Given the description of an element on the screen output the (x, y) to click on. 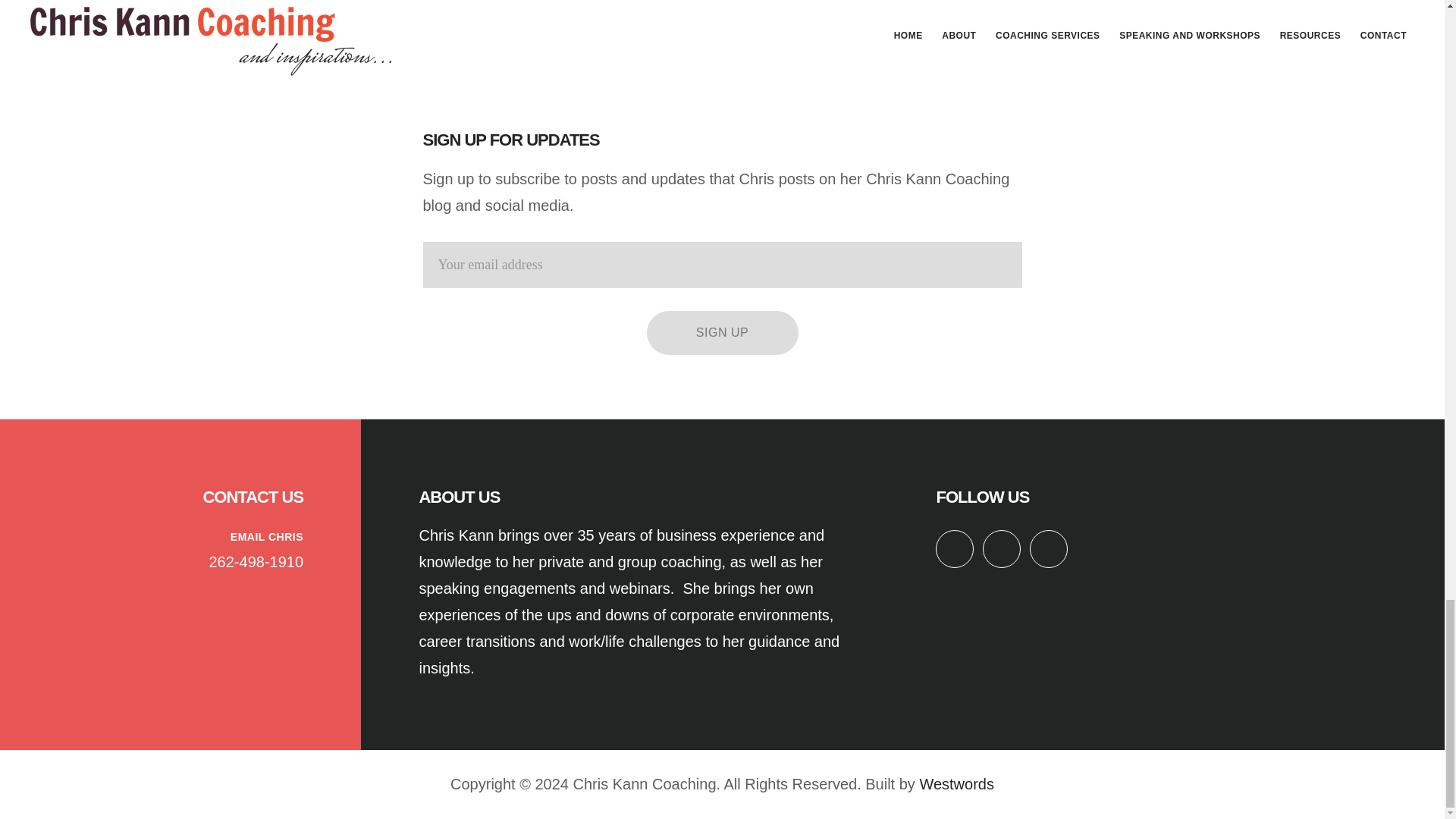
Sign up (721, 332)
LEARN MORE (453, 21)
LEARN MORE (721, 1)
LEARN MORE (989, 1)
Sign up (721, 332)
Westwords (956, 783)
EMAIL CHRIS (266, 536)
